Given the description of an element on the screen output the (x, y) to click on. 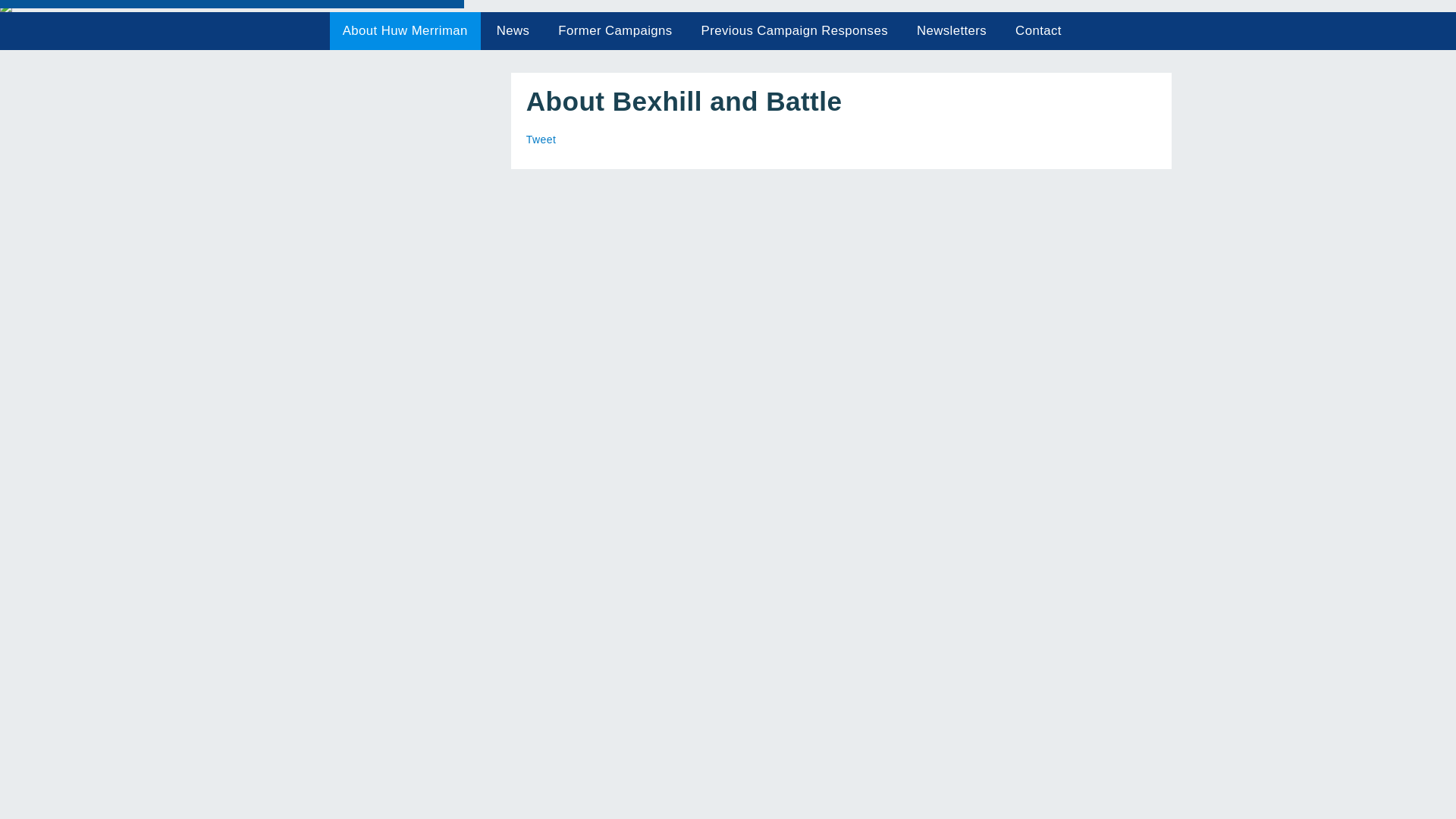
About Huw Merriman (405, 30)
Tweet (540, 139)
Former Campaigns (615, 30)
Contact (1038, 30)
Newsletters (951, 30)
News (512, 30)
Home (304, 30)
Previous Campaign Responses (794, 30)
